Given the description of an element on the screen output the (x, y) to click on. 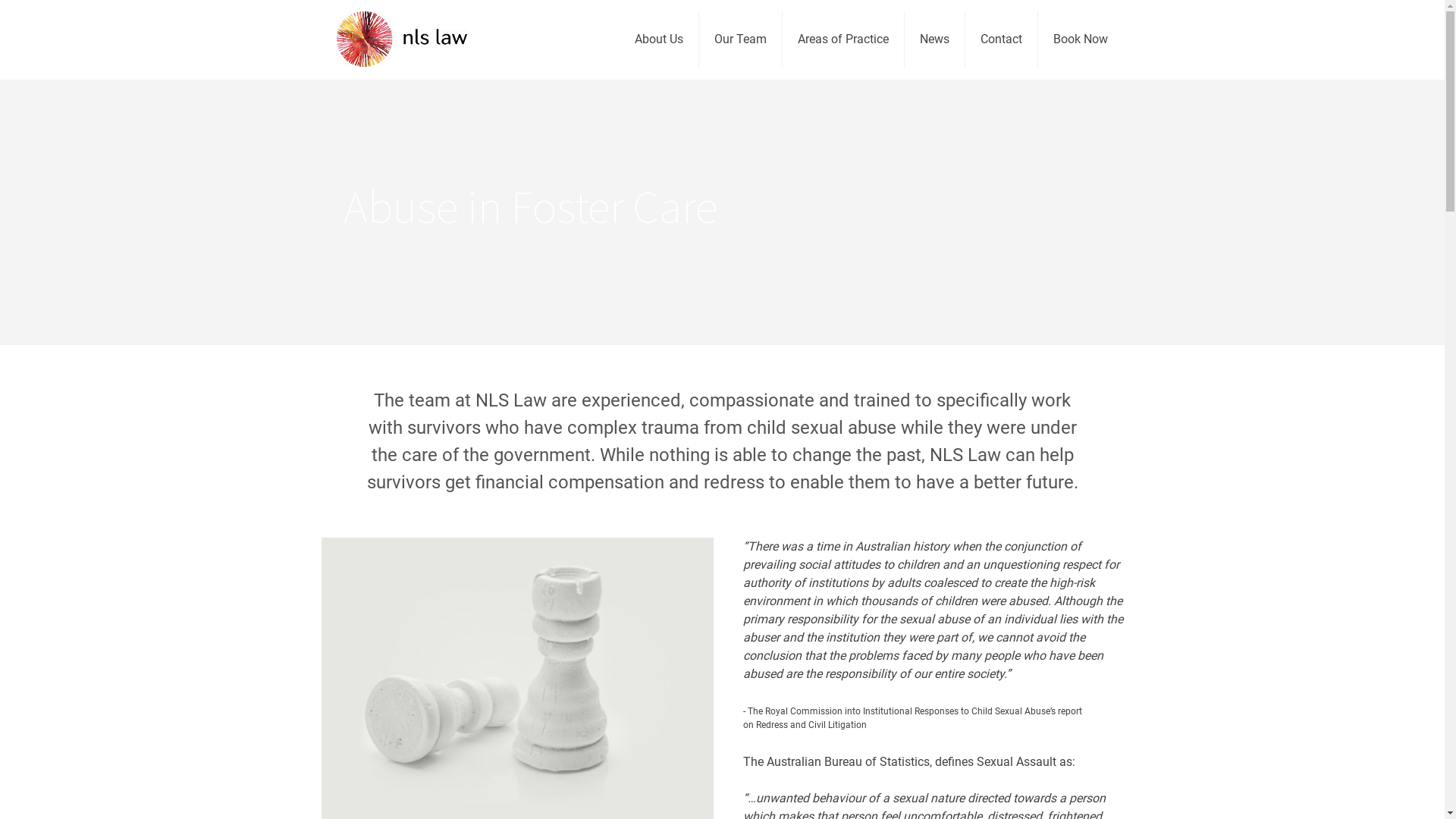
Contact Element type: text (1001, 39)
About Us Element type: text (659, 39)
News Element type: text (934, 39)
NLS Law Element type: hover (401, 39)
Our Team Element type: text (740, 39)
Areas of Practice Element type: text (843, 39)
Book Now Element type: text (1080, 39)
